Given the description of an element on the screen output the (x, y) to click on. 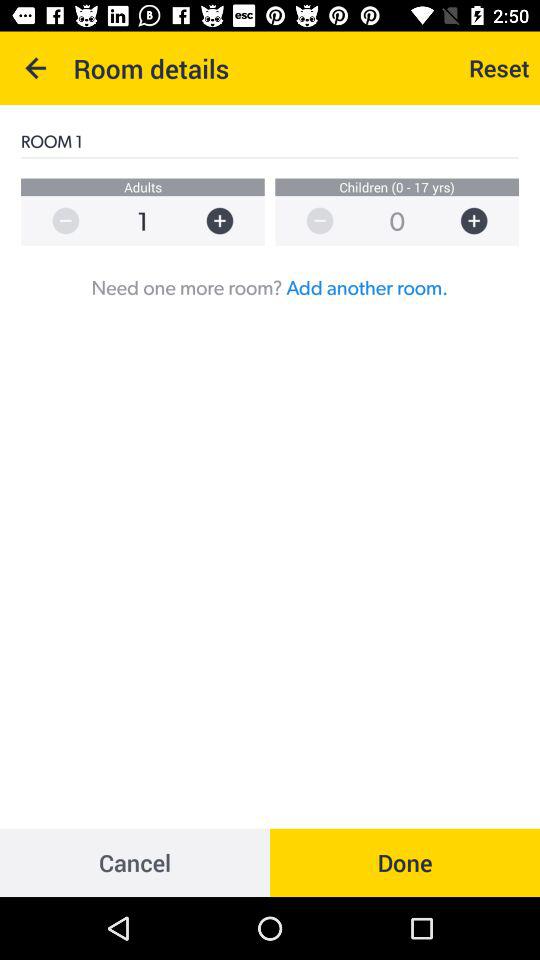
open the icon above the room 1 item (499, 67)
